Given the description of an element on the screen output the (x, y) to click on. 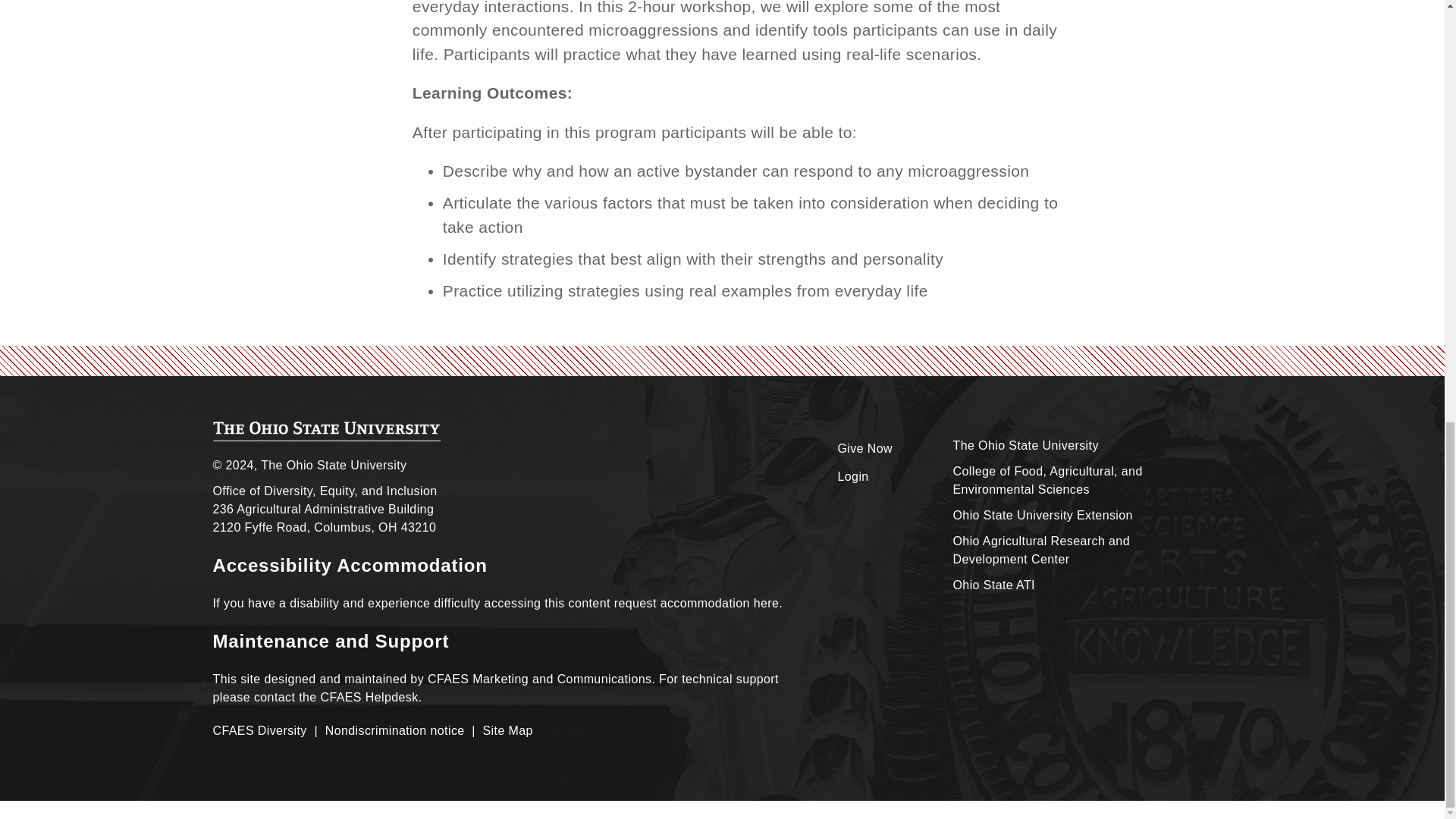
CFAES Home (325, 431)
